Given the description of an element on the screen output the (x, y) to click on. 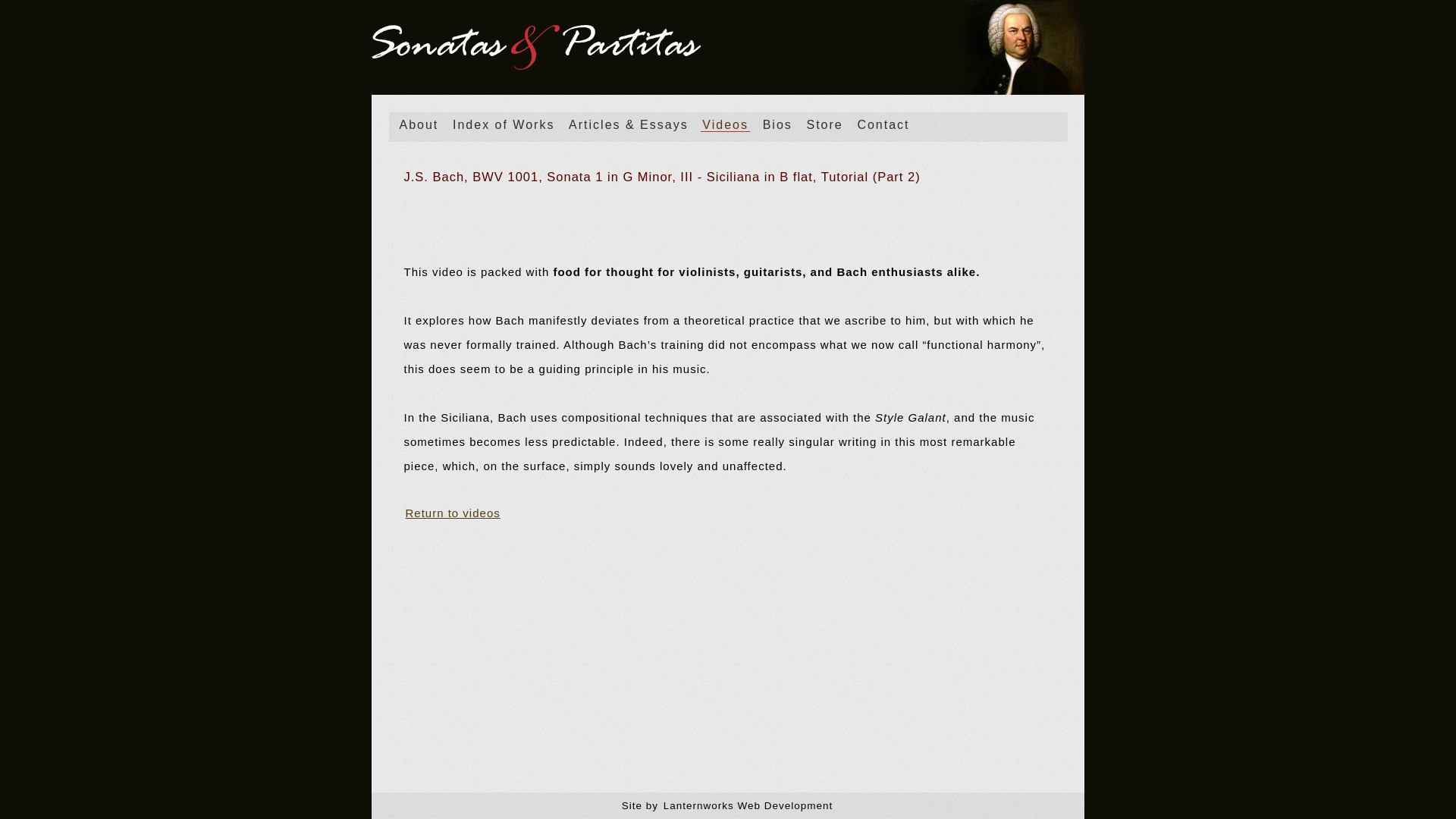
About (418, 124)
Store (824, 124)
Contact (883, 124)
Return (451, 512)
Store (824, 124)
Index of Works (503, 124)
Bios (777, 124)
Videos (724, 124)
Details (727, 176)
About The Project (418, 124)
